Given the description of an element on the screen output the (x, y) to click on. 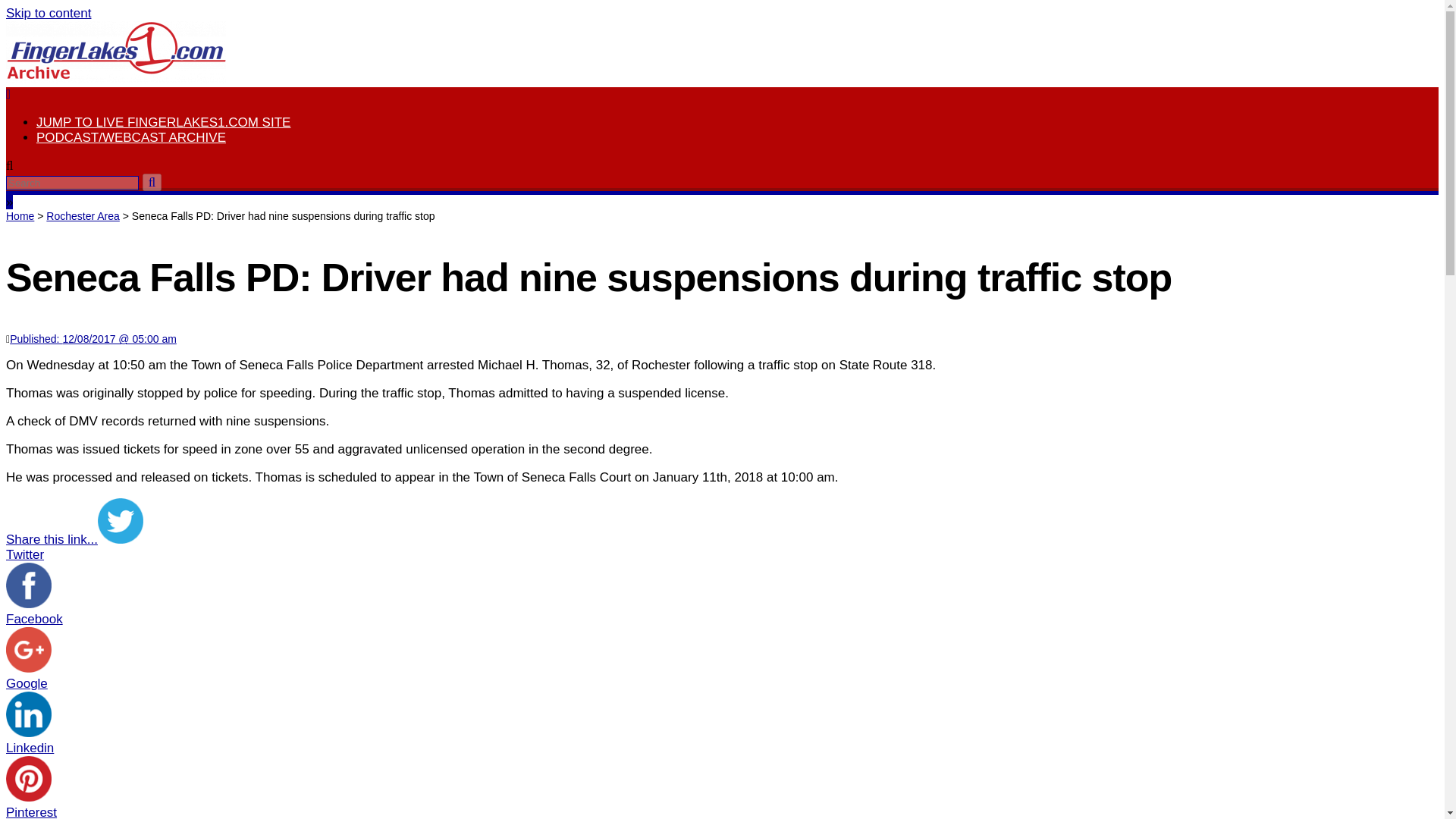
facebook (27, 585)
Home (19, 215)
Rochester Area (82, 215)
JUMP TO LIVE FINGERLAKES1.COM SITE (162, 122)
pinterest (27, 778)
Share this link... (51, 539)
linkedin (27, 714)
Skip to content (47, 12)
link (47, 12)
google (27, 649)
twitter (119, 520)
